Given the description of an element on the screen output the (x, y) to click on. 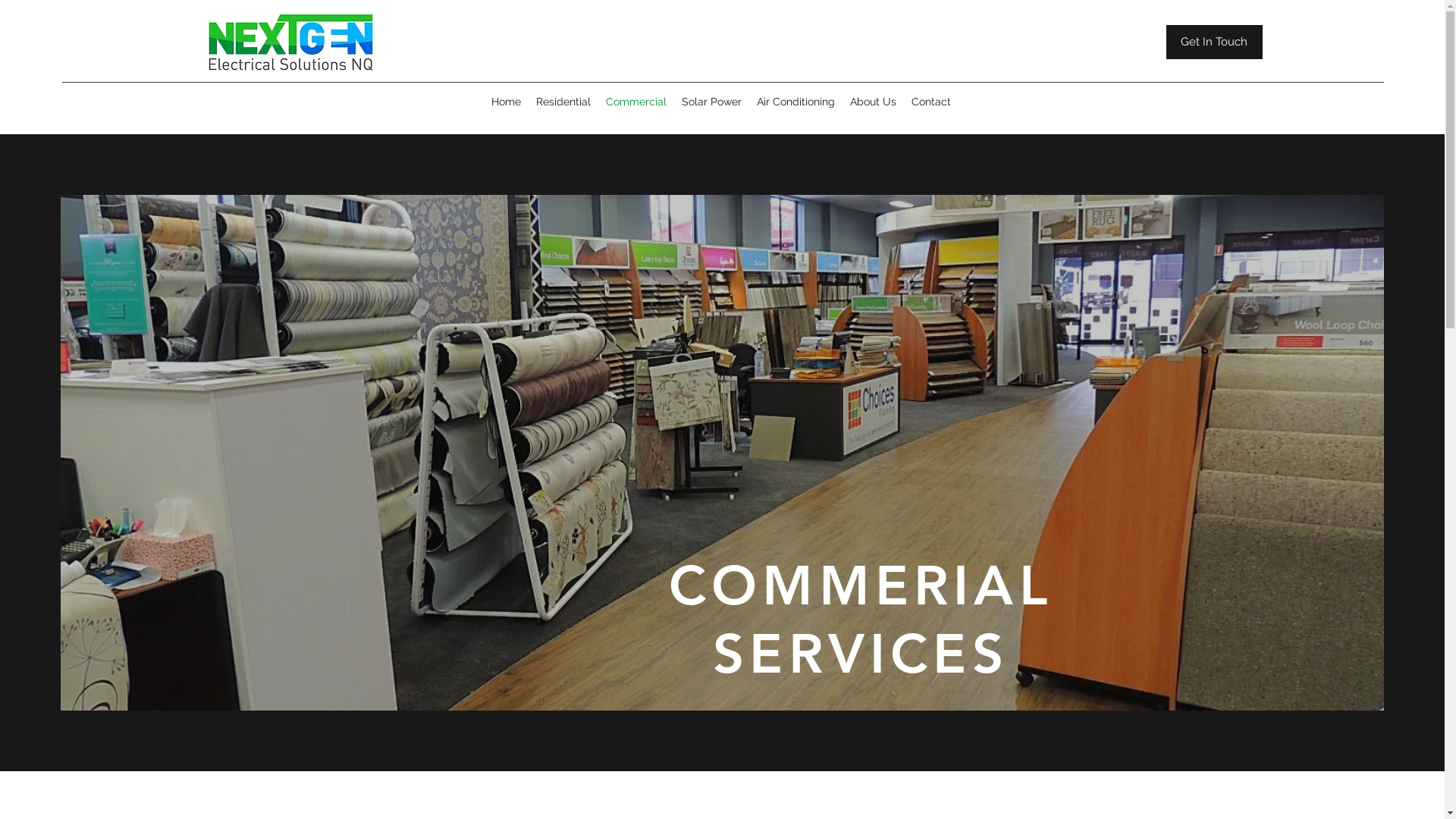
Contact Element type: text (930, 101)
Air Conditioning Element type: text (795, 101)
About Us Element type: text (872, 101)
Solar Power Element type: text (710, 101)
Home Element type: text (505, 101)
Get In Touch Element type: text (1214, 42)
Commercial Element type: text (635, 101)
Residential Element type: text (562, 101)
